Given the description of an element on the screen output the (x, y) to click on. 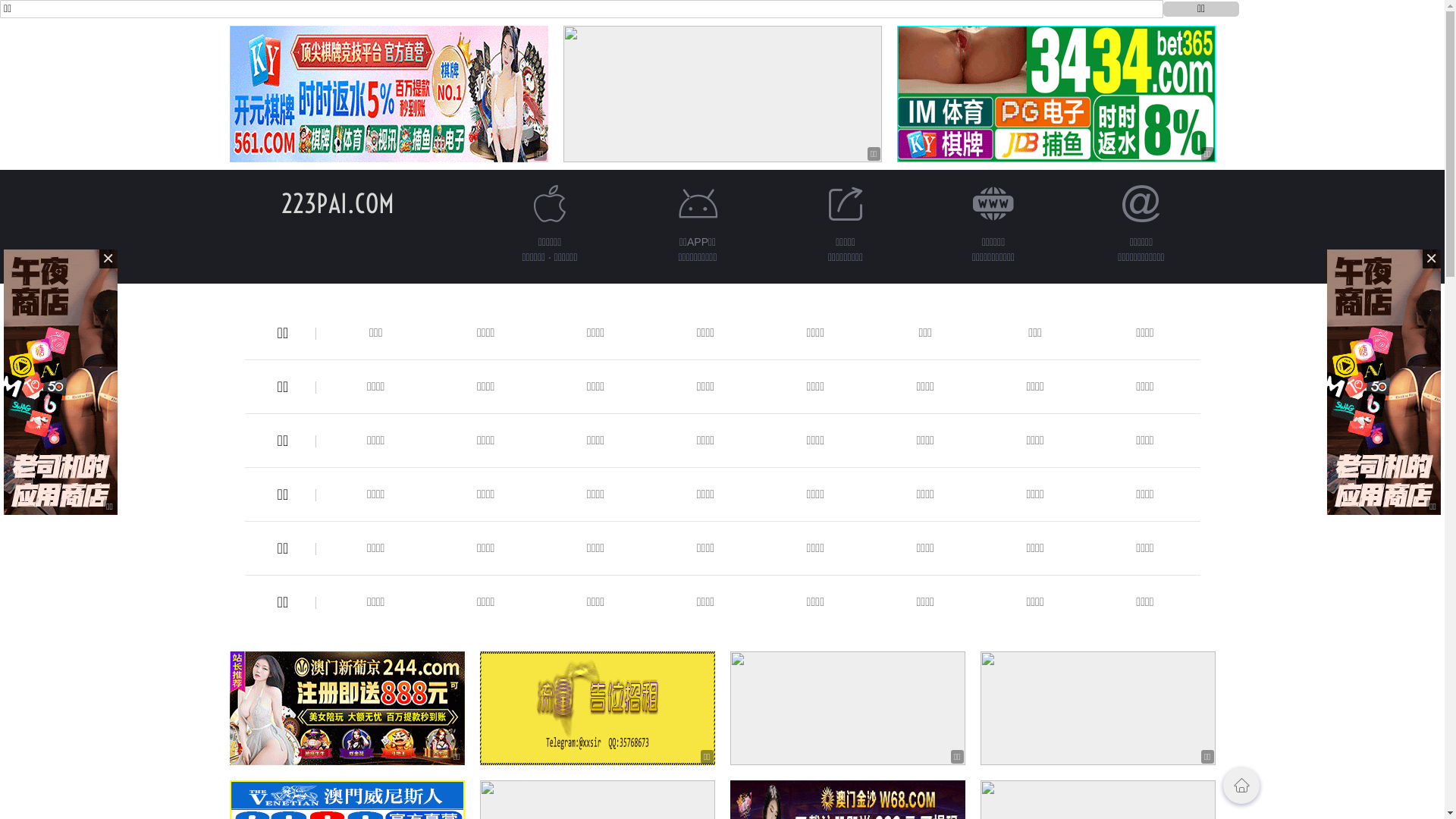
223PAI.COM Element type: text (337, 203)
